Given the description of an element on the screen output the (x, y) to click on. 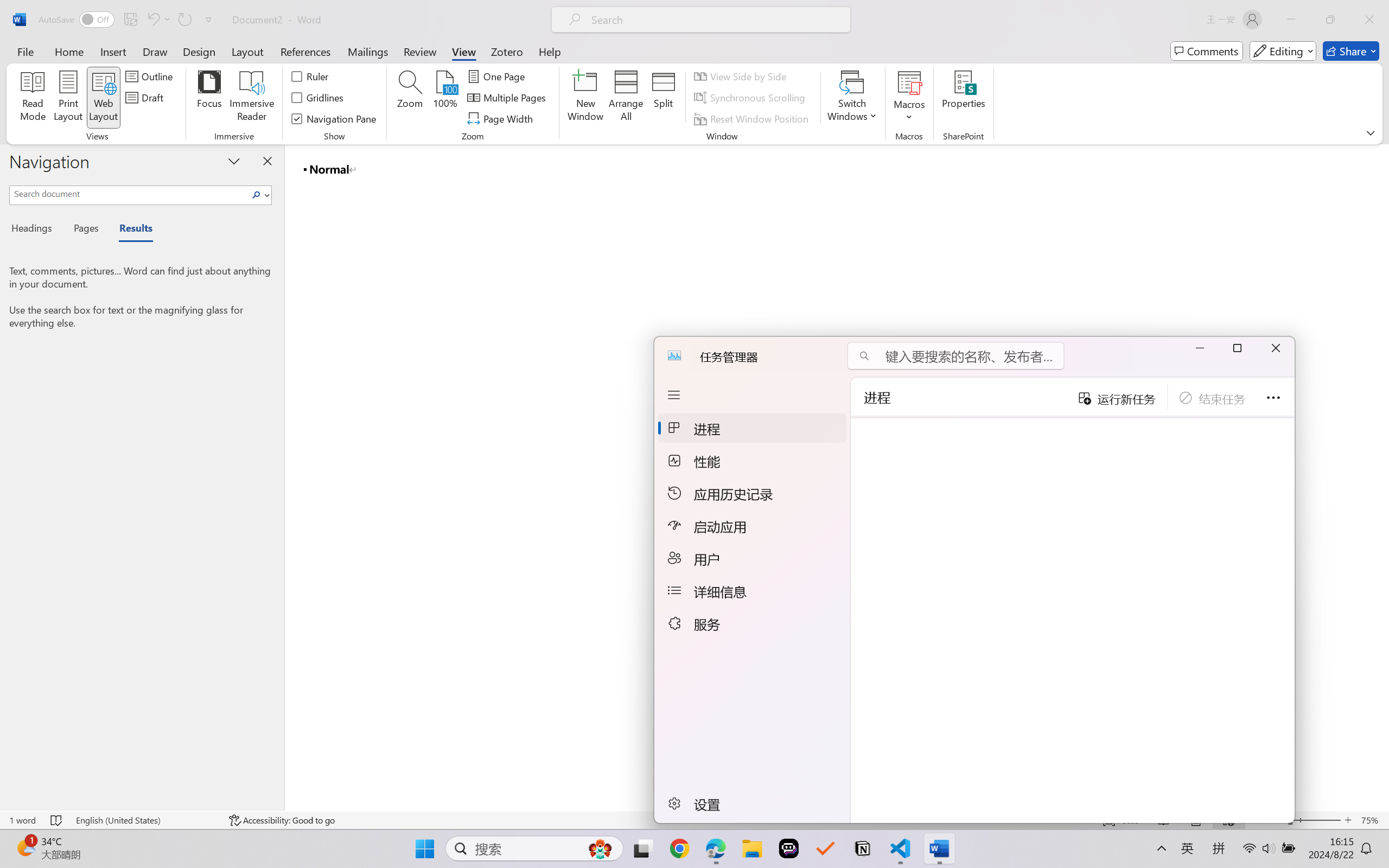
Quick Access Toolbar (127, 19)
Class: NetUIScrollBar (1382, 477)
One Page (497, 75)
Properties (963, 97)
Focus (209, 97)
